Given the description of an element on the screen output the (x, y) to click on. 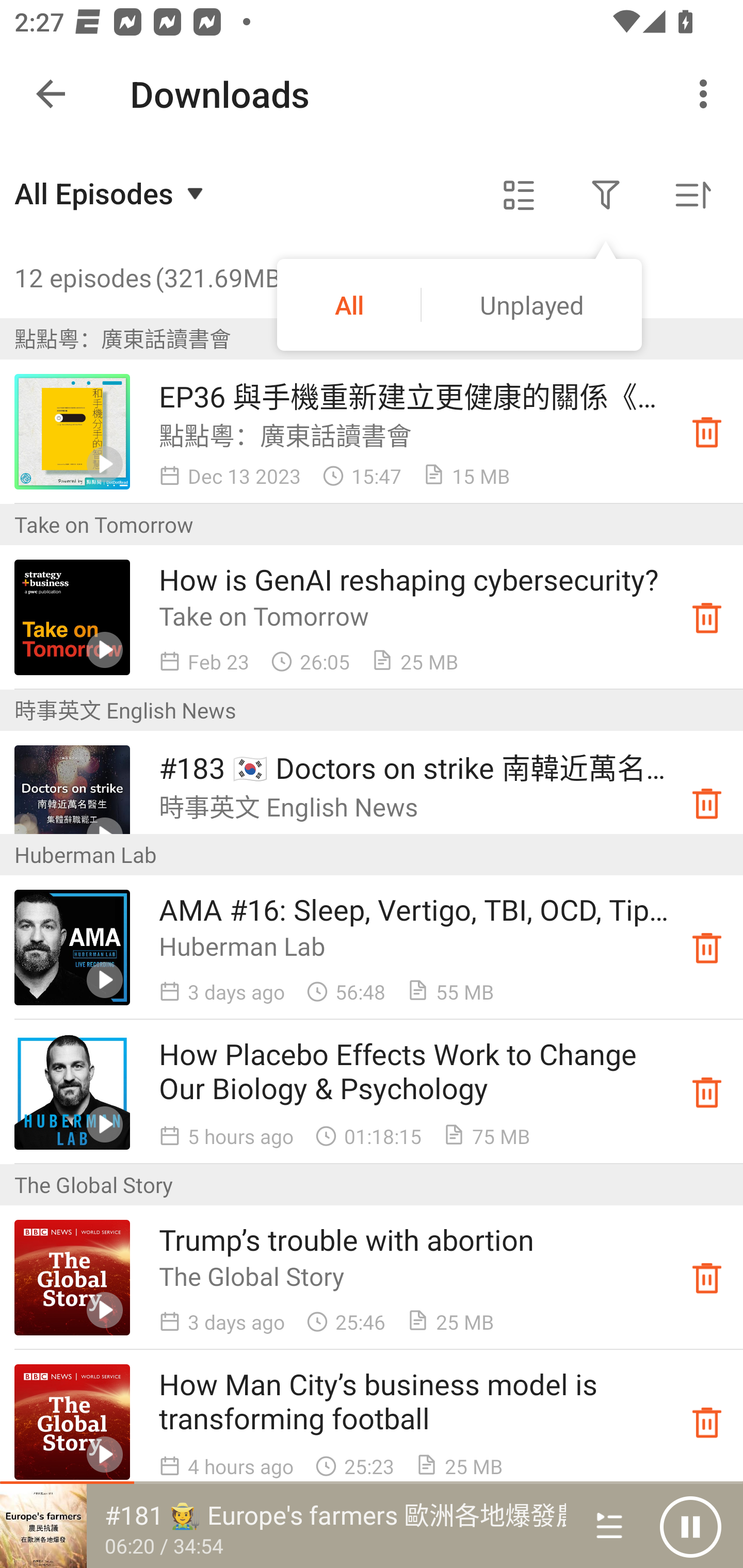
All (349, 304)
Unplayed (531, 304)
